Given the description of an element on the screen output the (x, y) to click on. 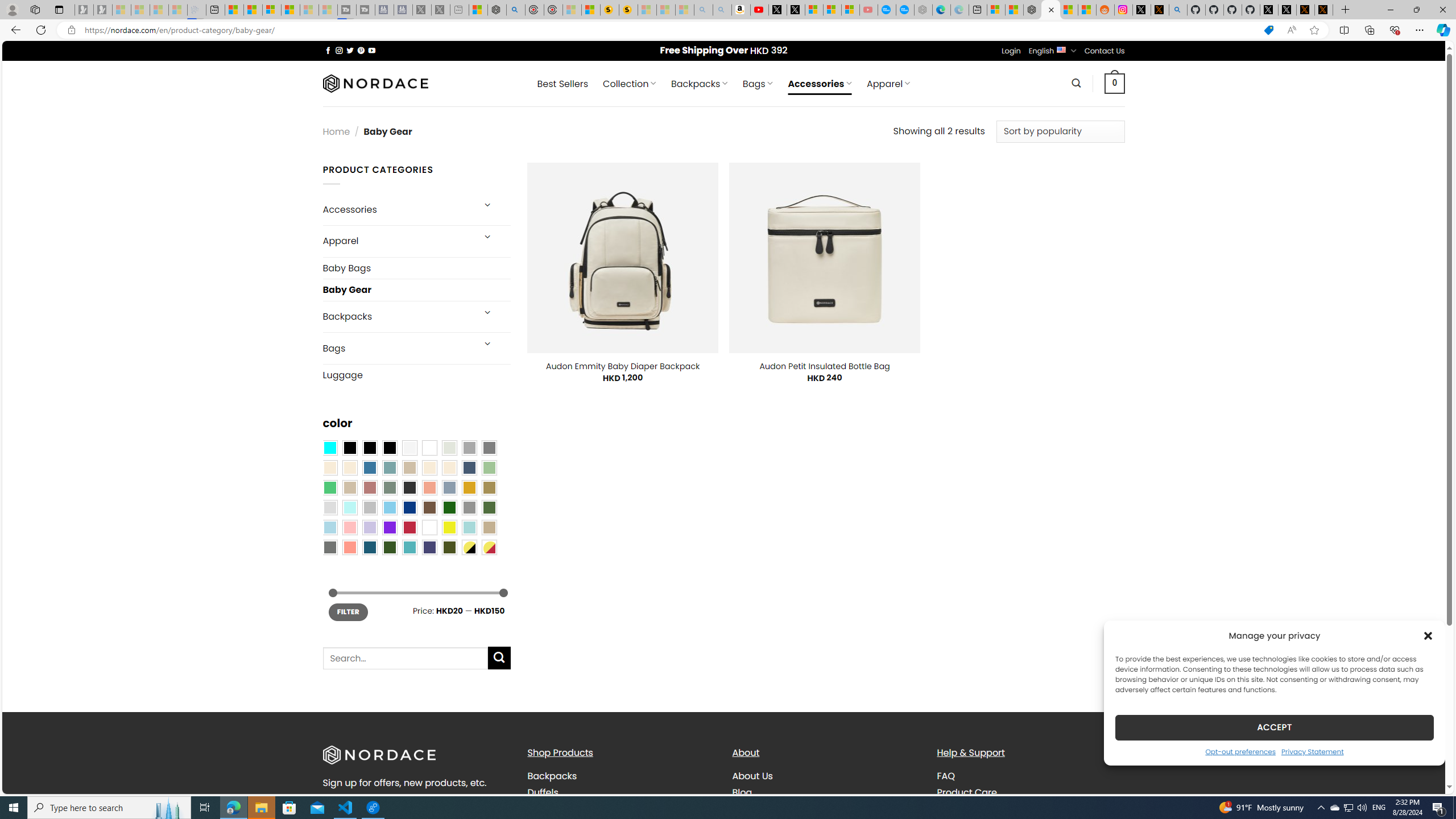
Baby Bags (416, 267)
FILTER (347, 611)
Overview (271, 9)
Pearly White (408, 447)
Black (369, 447)
github - Search (1178, 9)
Forest (389, 547)
Log in to X / X (1142, 9)
Dark Gray (468, 447)
Product Care (966, 792)
